Given the description of an element on the screen output the (x, y) to click on. 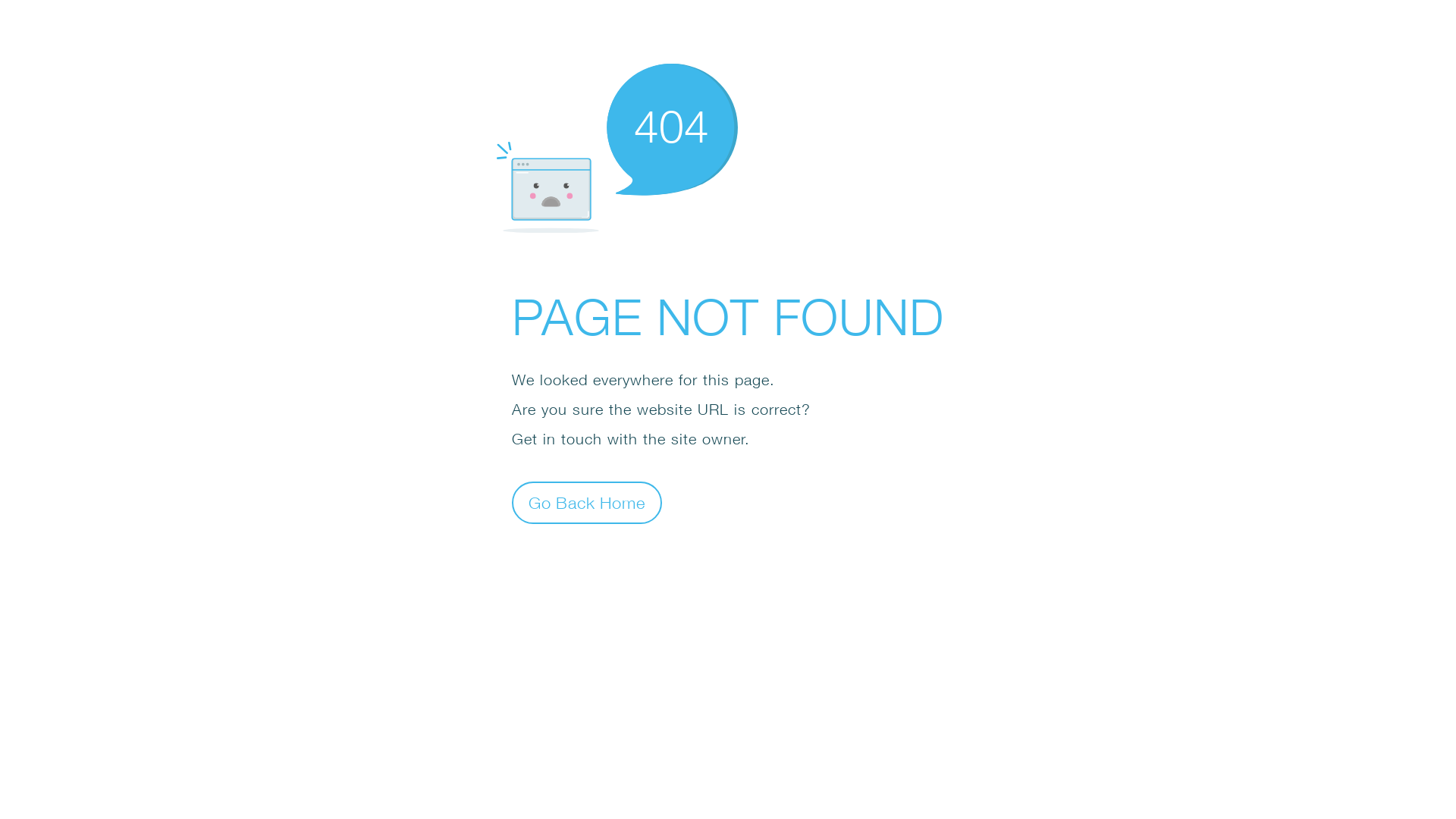
Go Back Home Element type: text (586, 502)
